Given the description of an element on the screen output the (x, y) to click on. 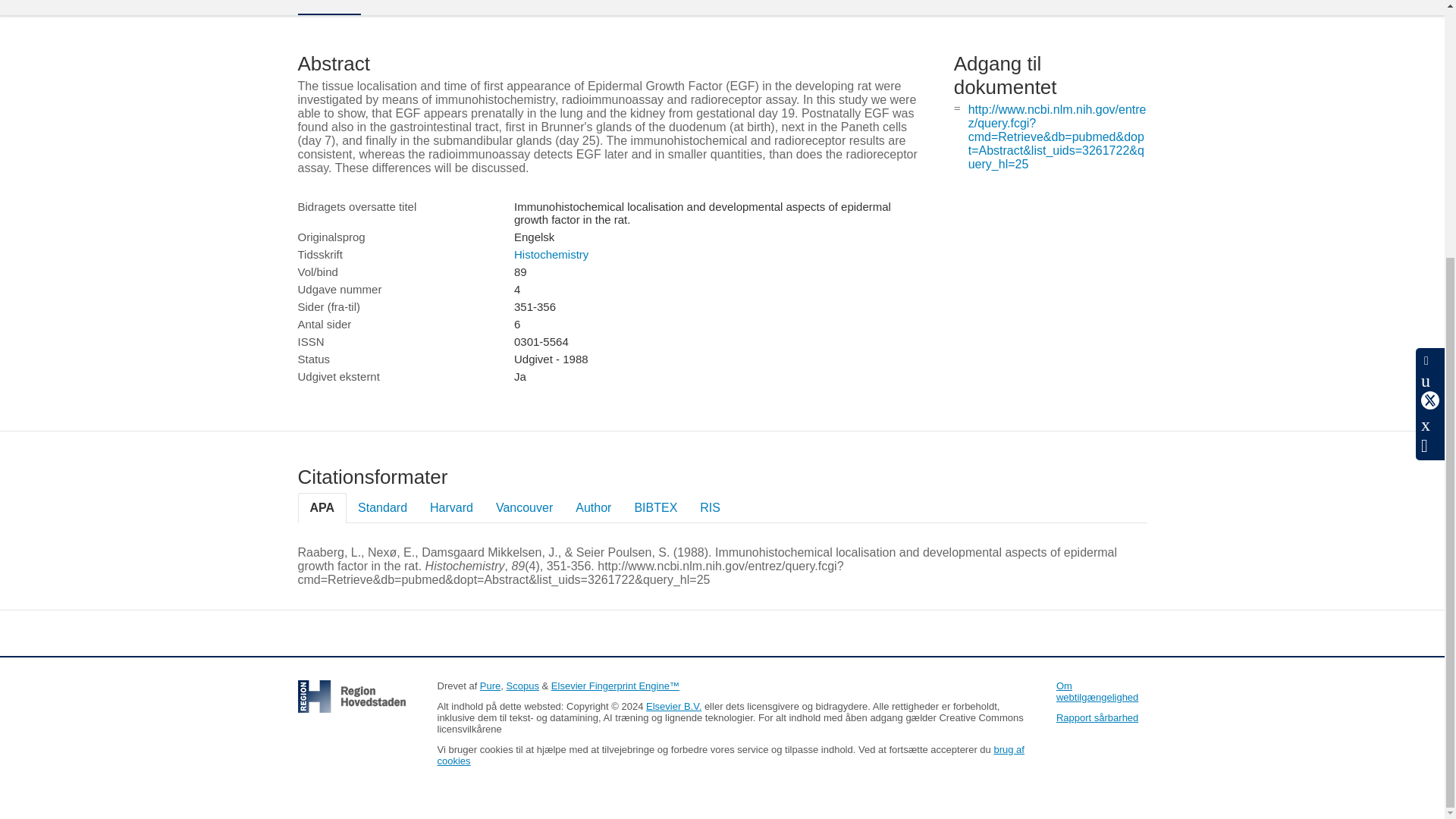
Pure (490, 685)
Elsevier B.V. (673, 706)
brug af cookies (729, 754)
Oversigt (328, 7)
Scopus (522, 685)
Histochemistry (550, 254)
